Given the description of an element on the screen output the (x, y) to click on. 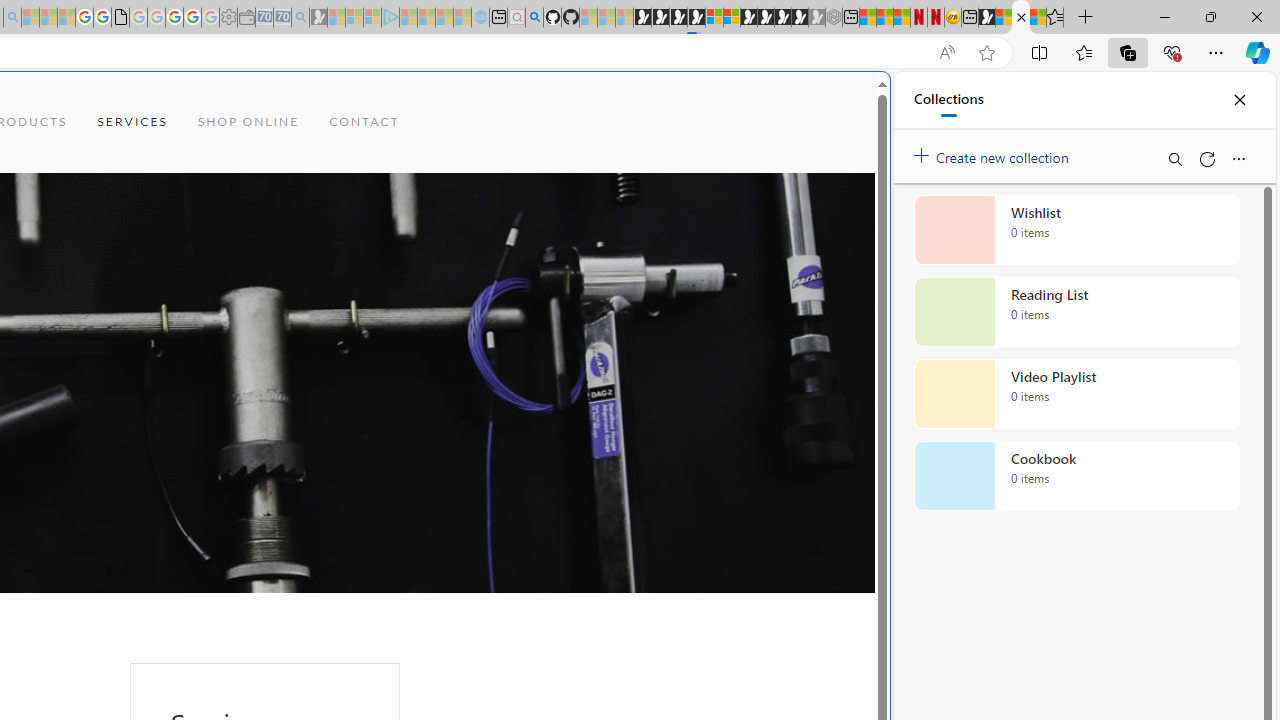
Services - Maintenance | Sky Blue Bikes - Sky Blue Bikes (1020, 17)
CONTACT (363, 122)
Settings - Sleeping (228, 17)
New tab (969, 17)
SERVICES (132, 122)
Play Free Online Games | Games from Microsoft Start (642, 17)
Split screen (1039, 52)
Cheap Car Rentals - Save70.com - Sleeping (281, 17)
SHOP ONLINE (247, 122)
